Given the description of an element on the screen output the (x, y) to click on. 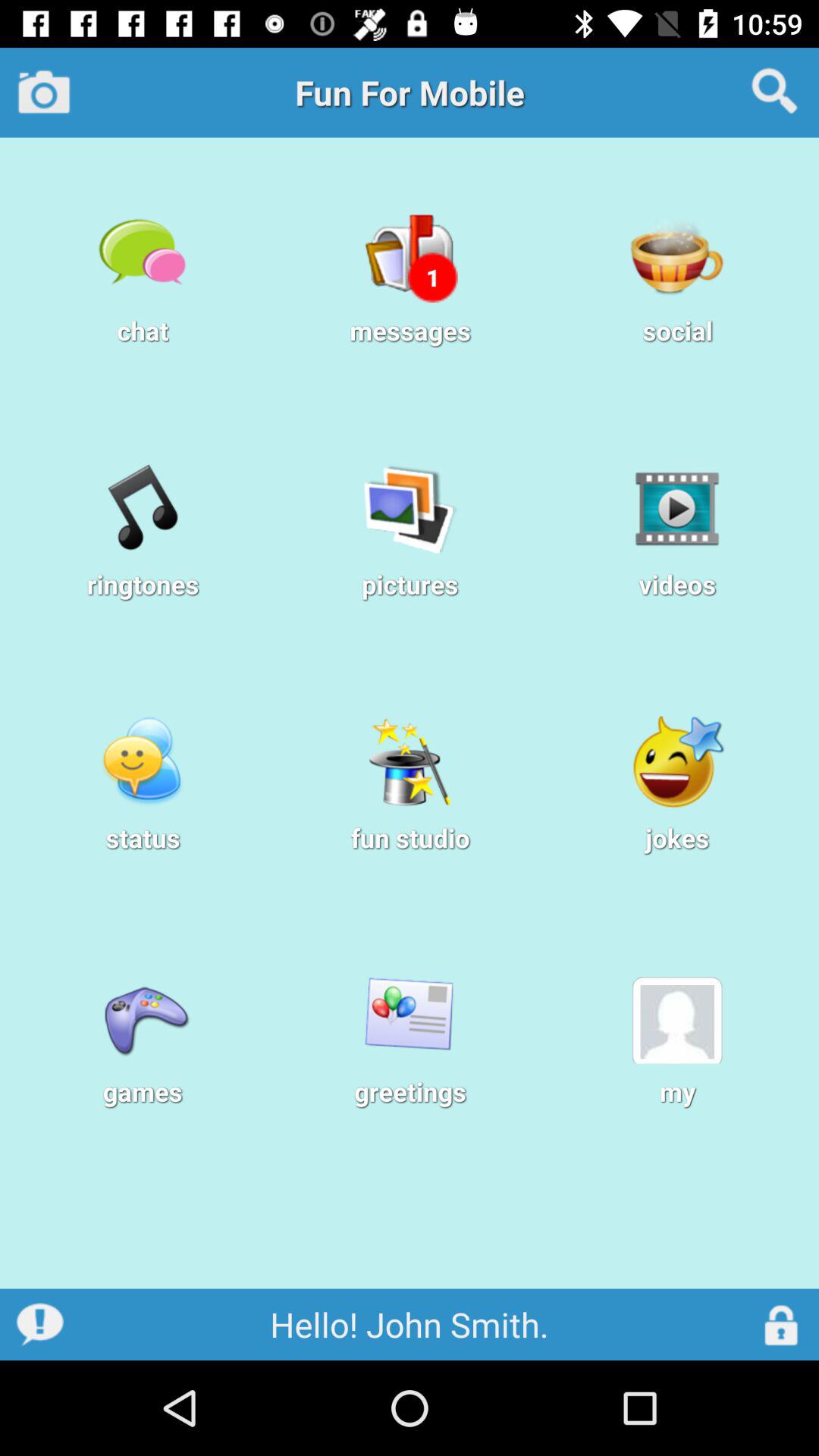
turn on app to the right of hello! john smith. (781, 1324)
